Given the description of an element on the screen output the (x, y) to click on. 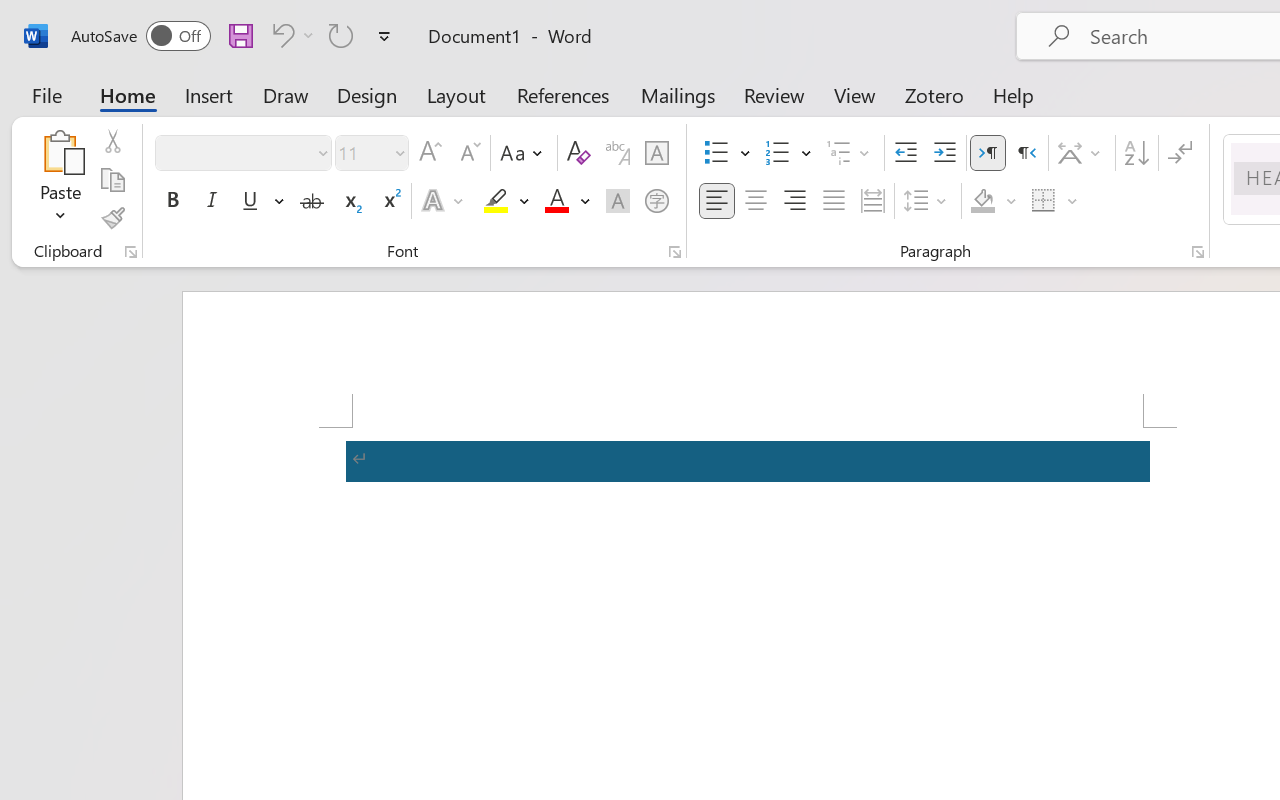
Left-to-Right (988, 153)
Undo Apply Quick Style Set (290, 35)
